Given the description of an element on the screen output the (x, y) to click on. 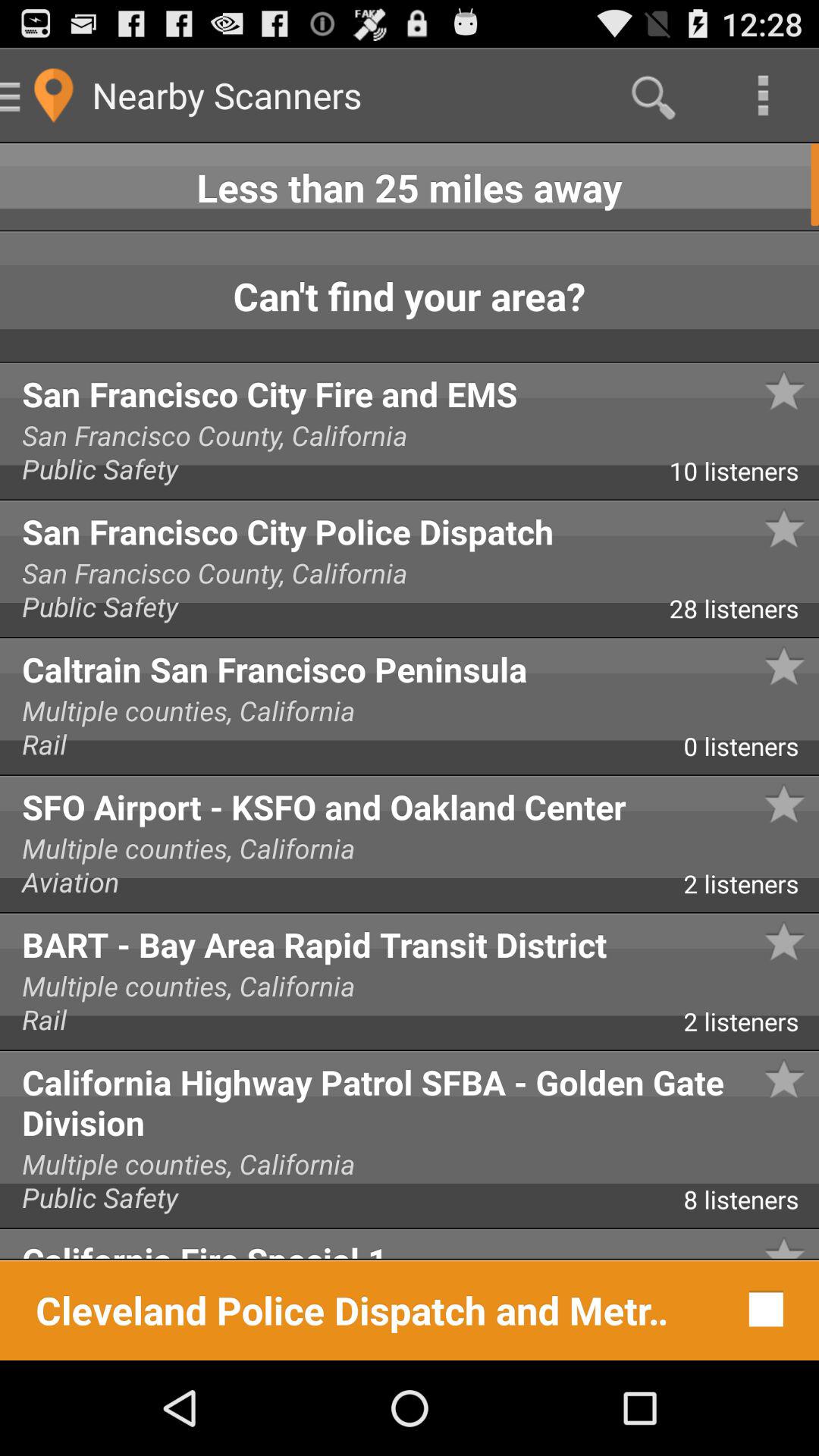
tap the 0 listeners item (751, 751)
